Given the description of an element on the screen output the (x, y) to click on. 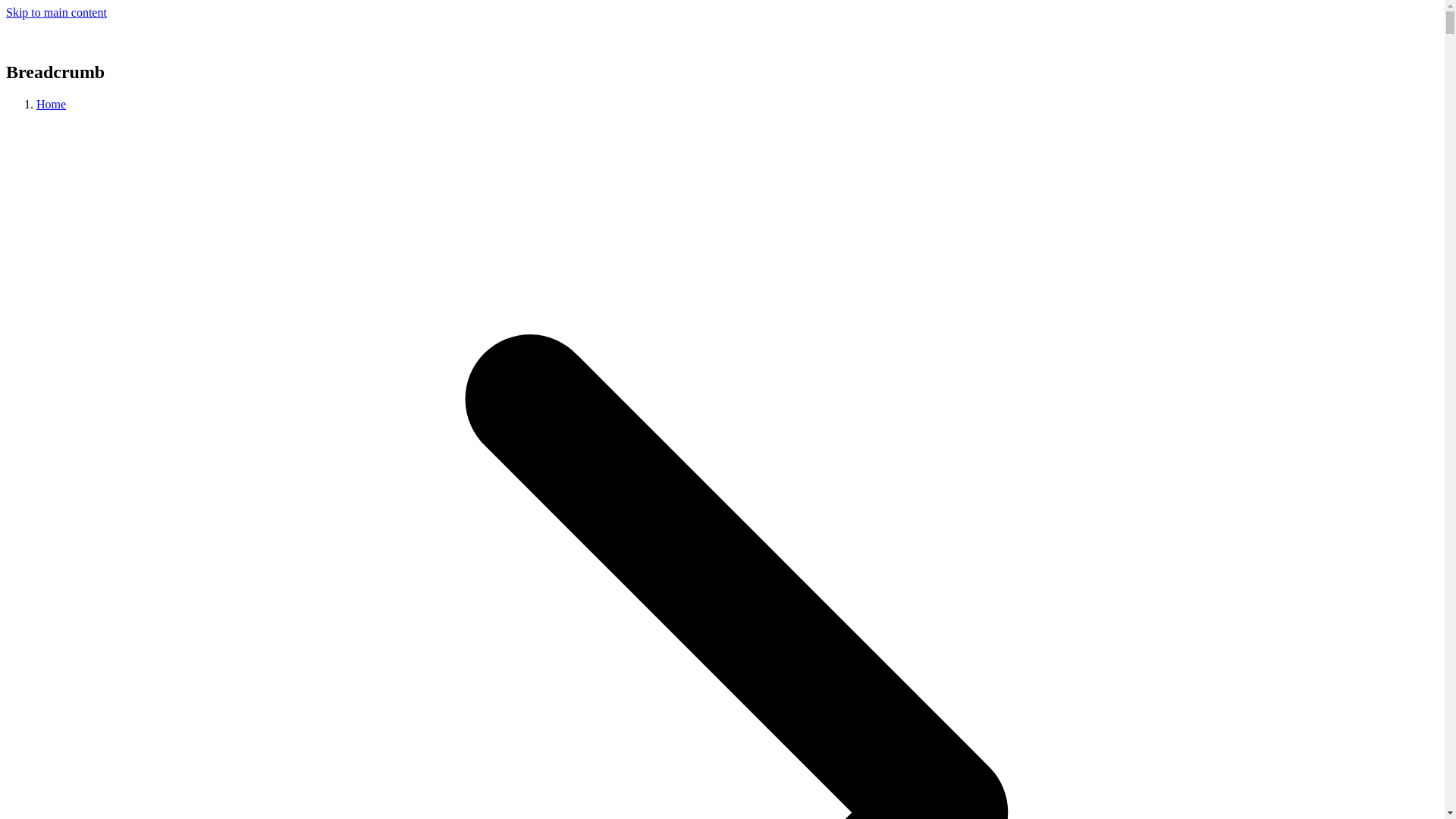
Skip to main content (55, 11)
